Given the description of an element on the screen output the (x, y) to click on. 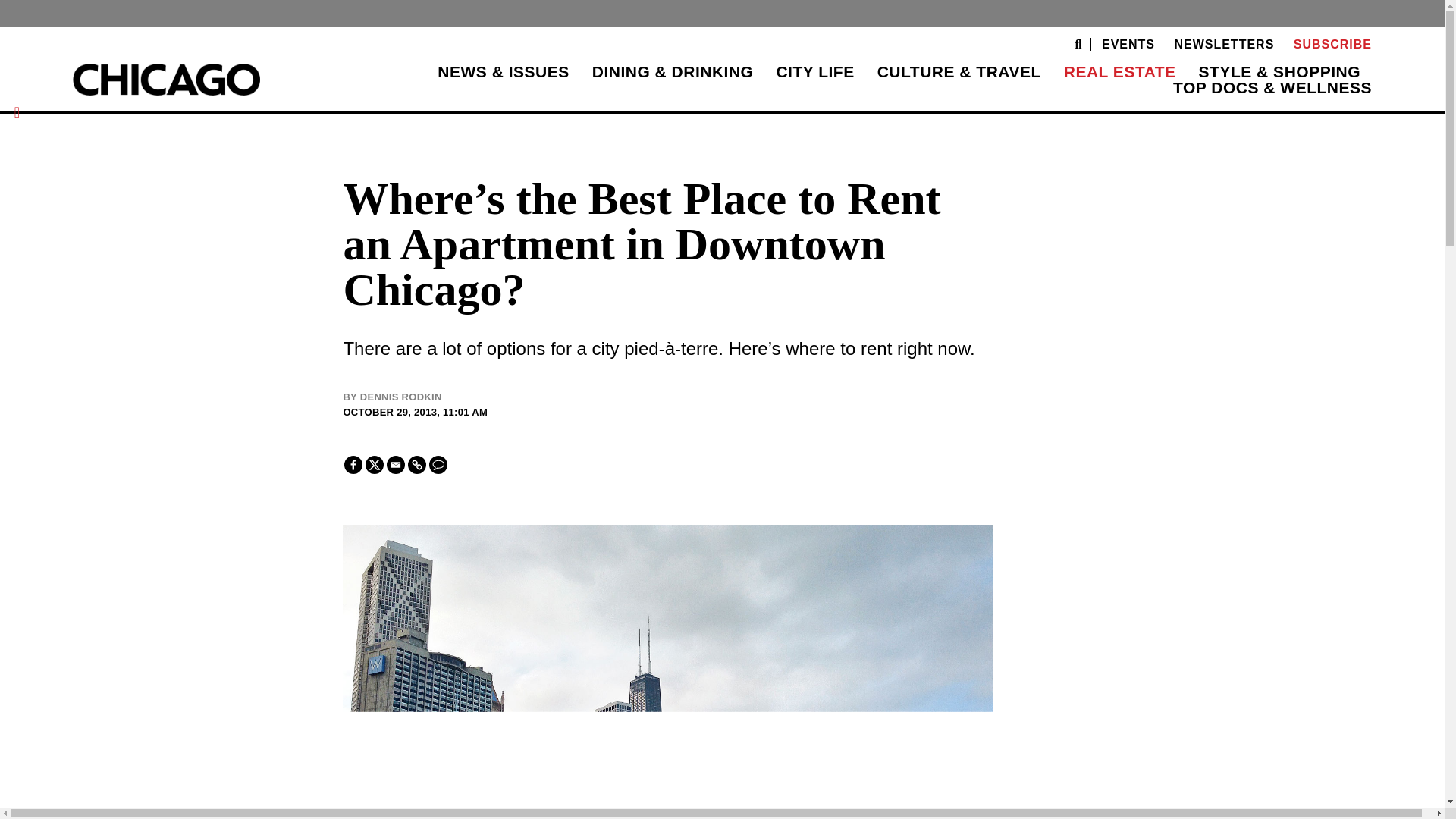
comment (437, 464)
Facebook (352, 464)
EVENTS (1128, 43)
Email (395, 464)
Copy Link (416, 464)
NEWSLETTERS (1224, 43)
X (374, 464)
